Given the description of an element on the screen output the (x, y) to click on. 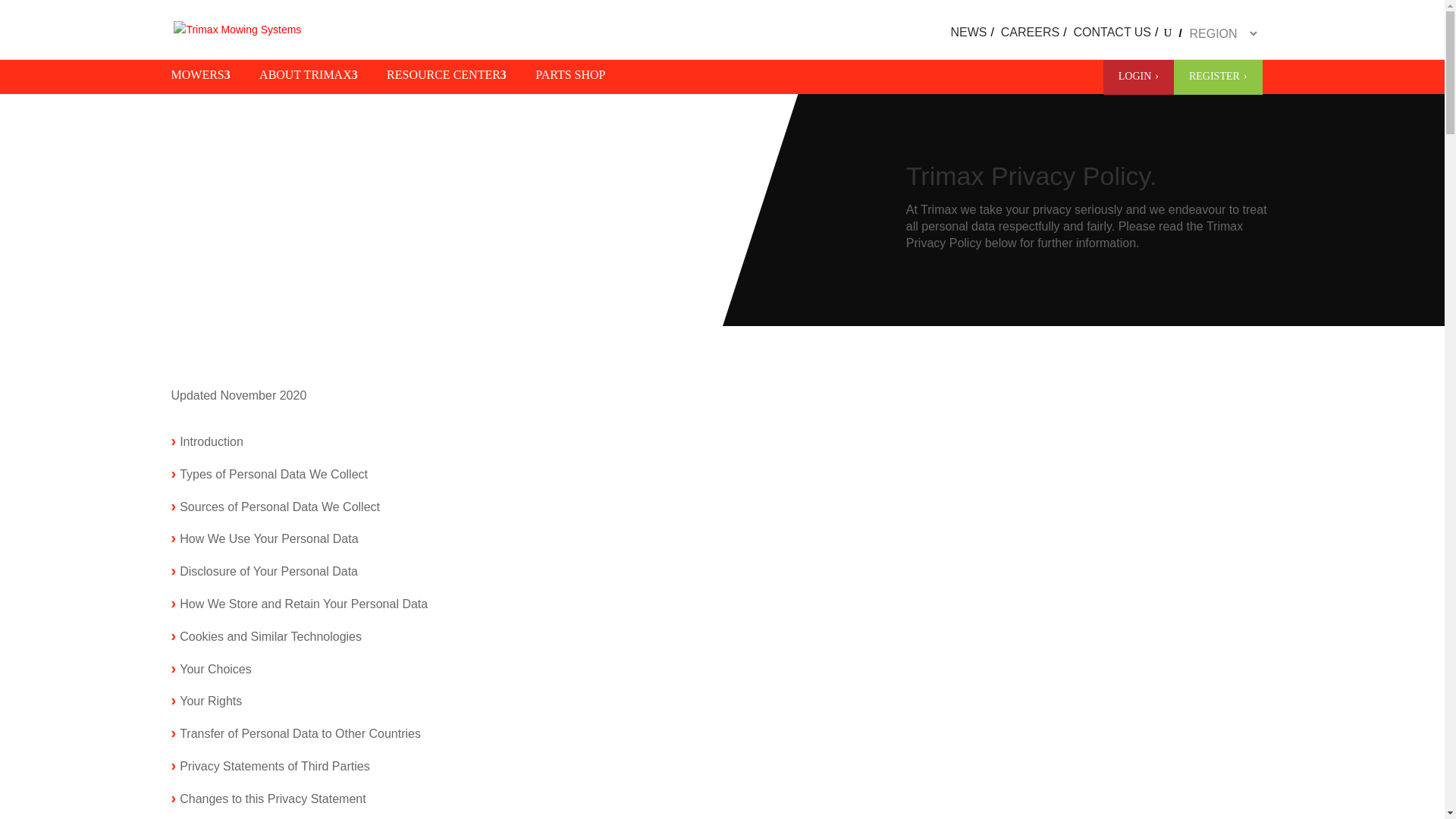
ABOUT TRIMAX (315, 79)
mega-menu (973, 41)
MOWERS (208, 79)
